Given the description of an element on the screen output the (x, y) to click on. 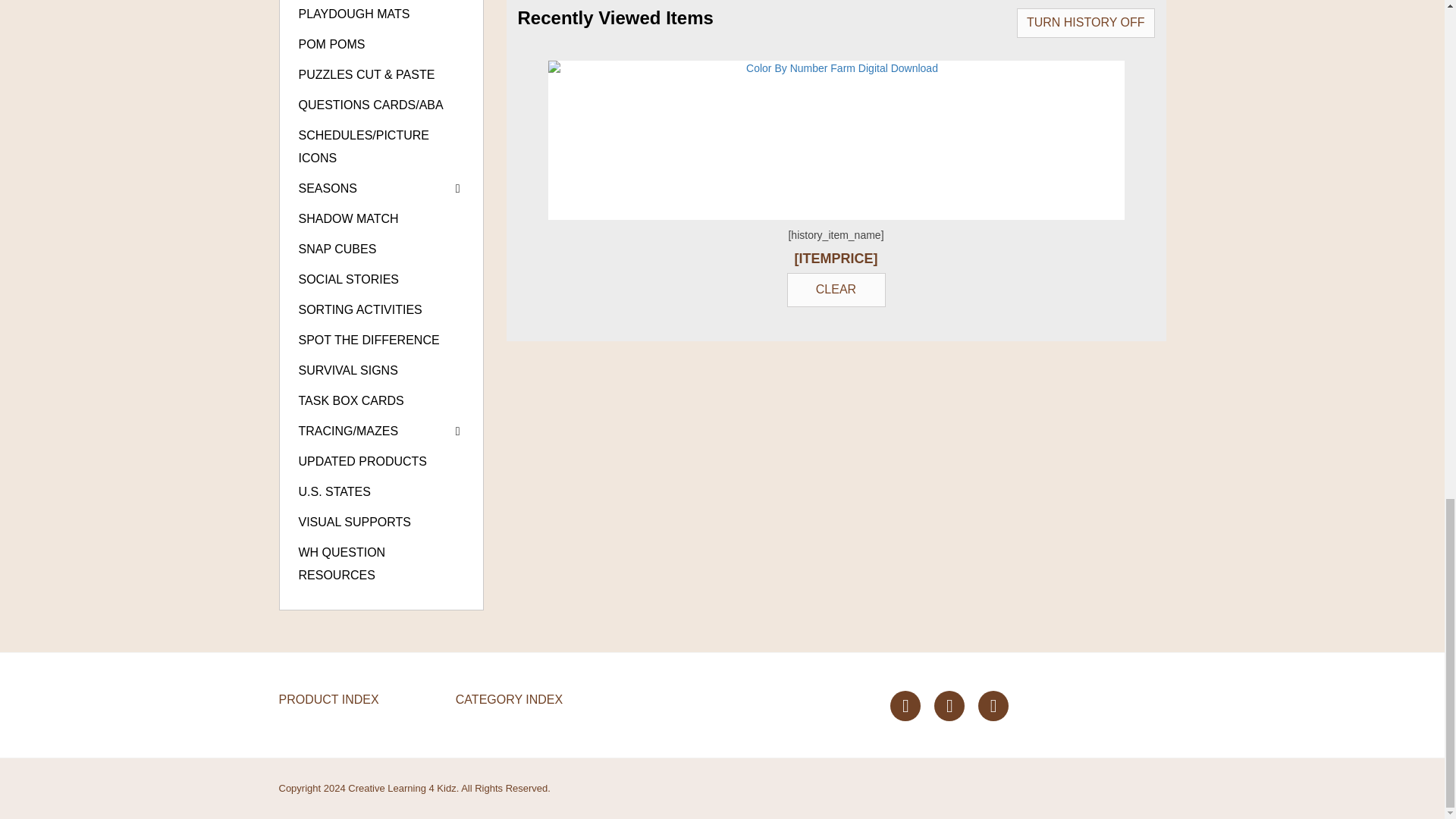
Like Us on Facebook (904, 706)
Follow Us on Instagram (993, 706)
Follow Us on Pinterest (948, 706)
